Given the description of an element on the screen output the (x, y) to click on. 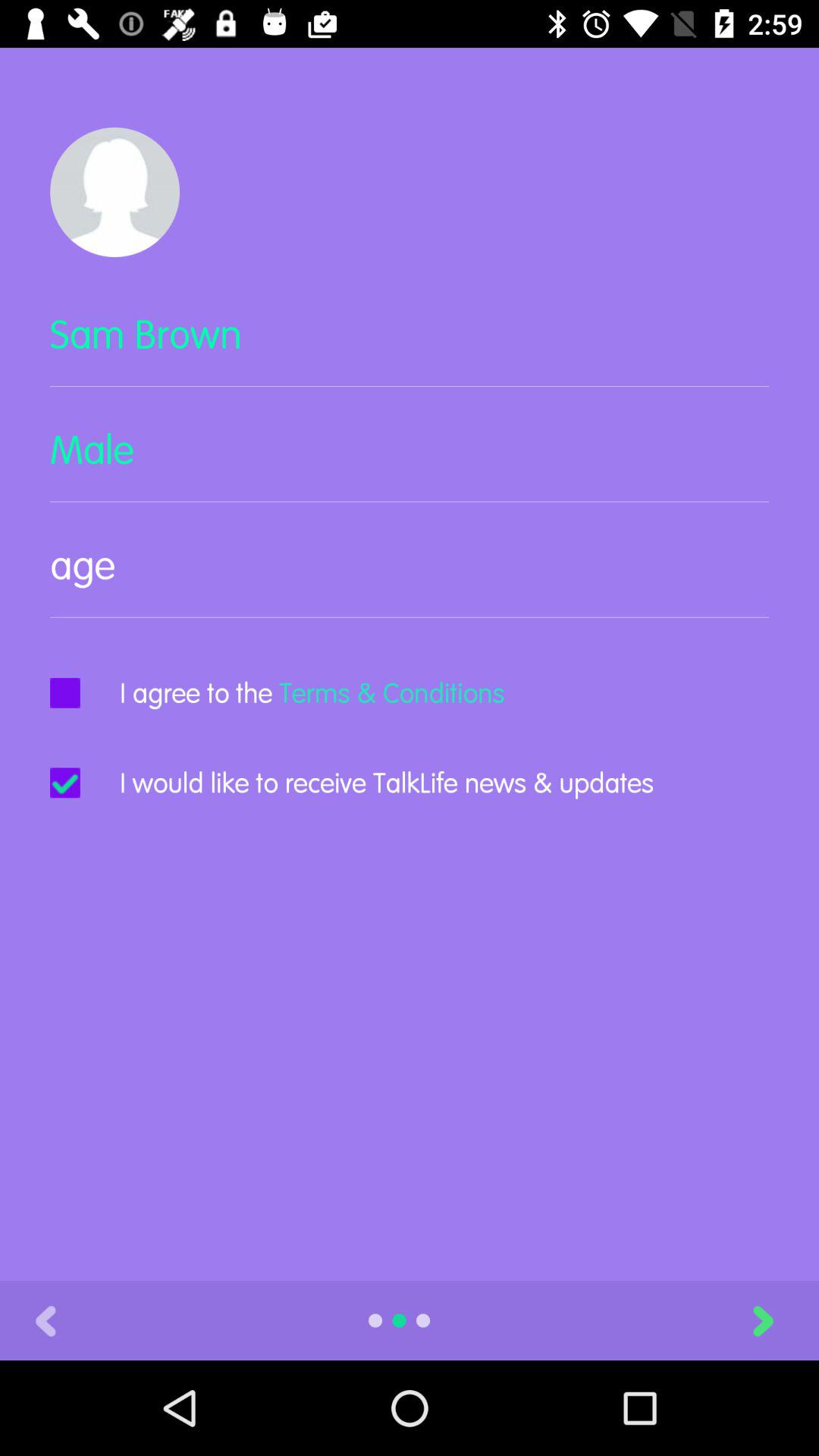
enter text (409, 577)
